Given the description of an element on the screen output the (x, y) to click on. 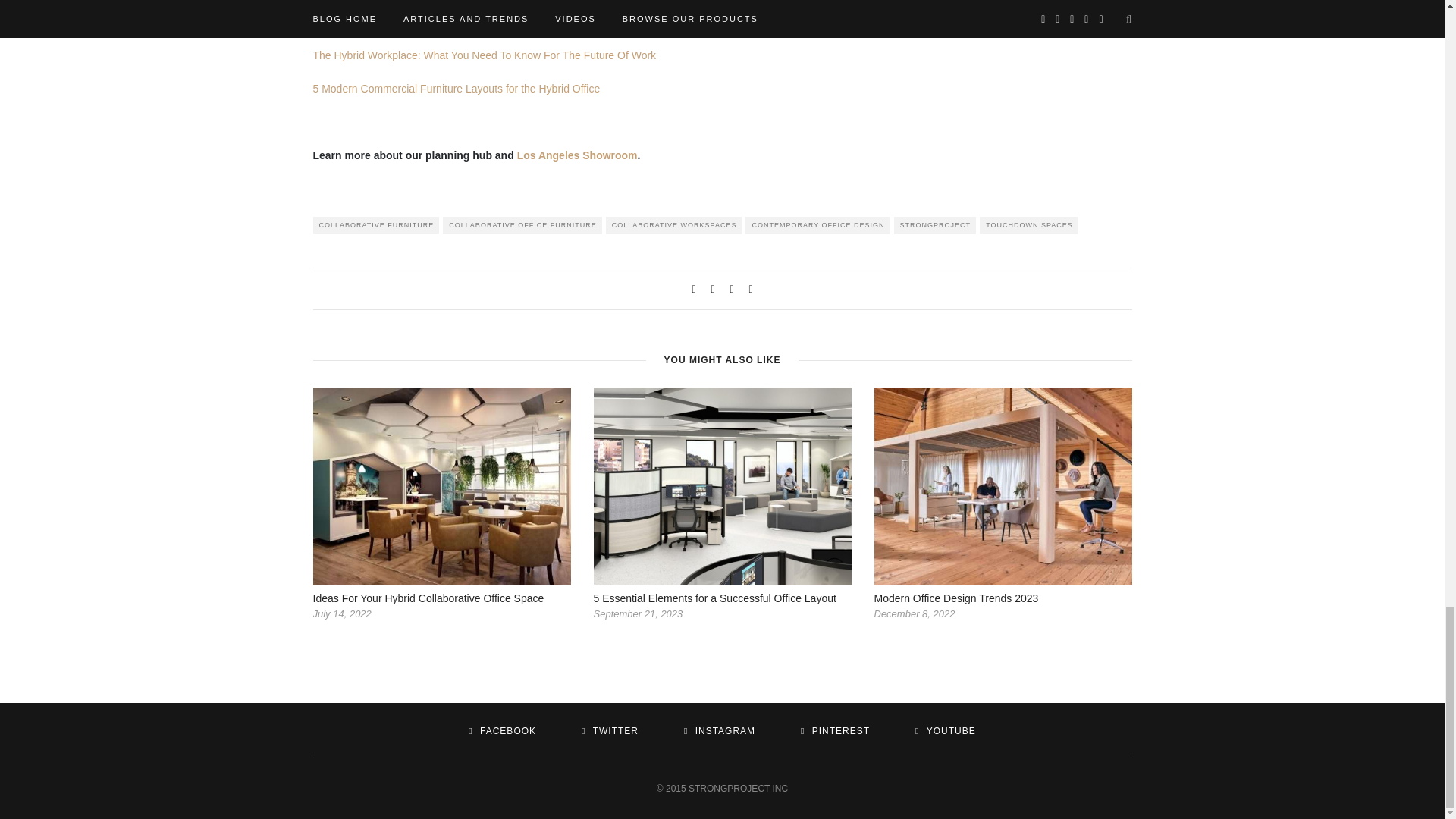
StrongProject (345, 21)
COLLABORATIVE WORKSPACES (673, 225)
CONTEMPORARY OFFICE DESIGN (817, 225)
COLLABORATIVE FURNITURE (376, 225)
TOUCHDOWN SPACES (1028, 225)
COLLABORATIVE OFFICE FURNITURE (521, 225)
Los Angeles Showroom (576, 155)
5 Modern Commercial Furniture Layouts for the Hybrid Office (456, 88)
STRONGPROJECT (934, 225)
